Given the description of an element on the screen output the (x, y) to click on. 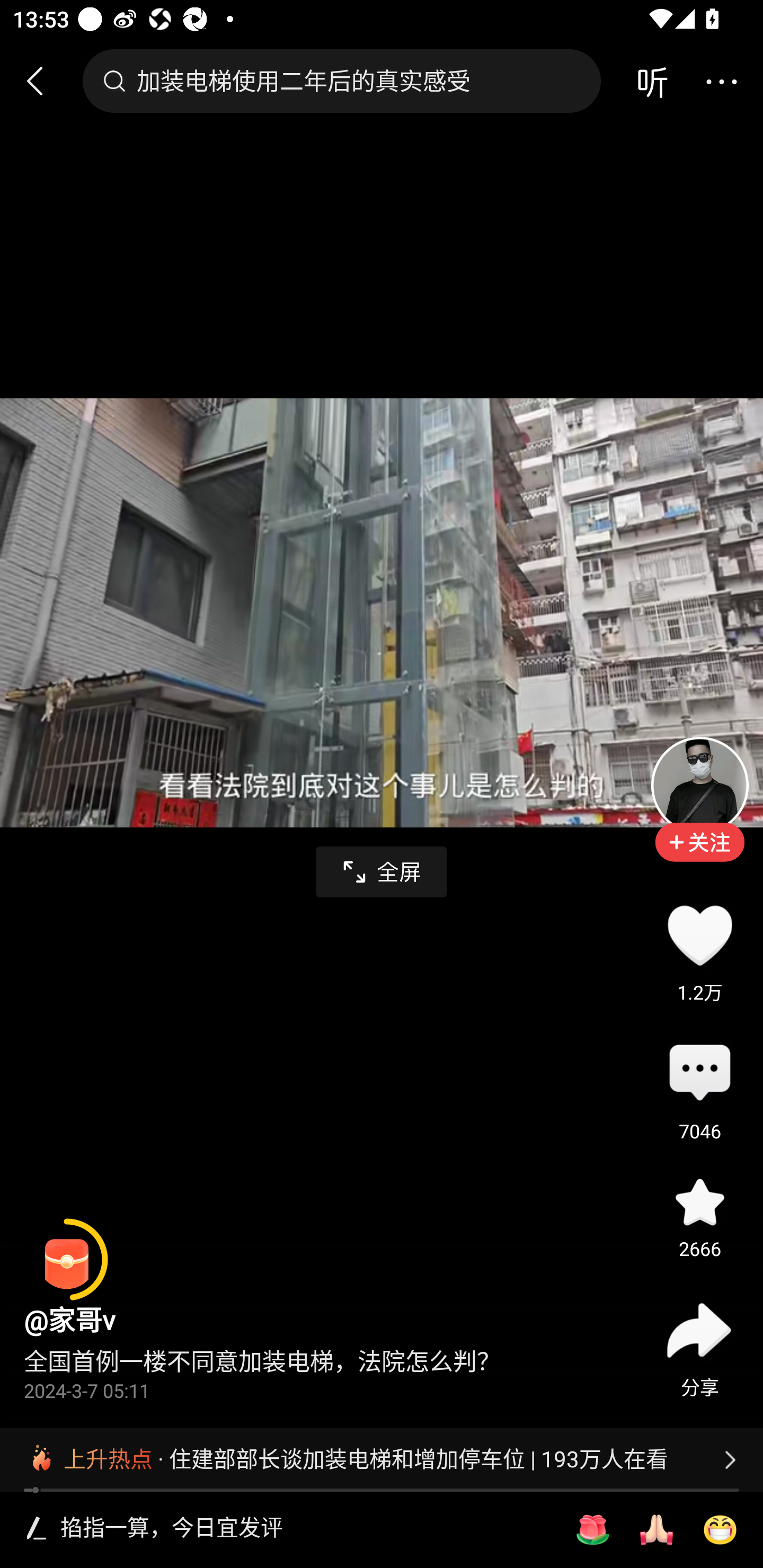
加装电梯使用二年后的真实感受 搜索框，加装电梯使用二年后的真实感受 (341, 80)
返回 (43, 80)
音频 (651, 80)
更多操作 (720, 80)
头像 (699, 785)
全屏播放 (381, 871)
点赞12026 1.2万 (699, 935)
评论7046 评论 7046 (699, 1074)
收藏 2666 (699, 1201)
阅读赚金币 (66, 1259)
分享 (699, 1330)
@家哥v (69, 1319)
上升热点  · 住建部部长谈加装电梯和增加停车位  | 193万人在看 (381, 1459)
掐指一算，今日宜发评 (305, 1529)
[玫瑰] (592, 1530)
[祈祷] (656, 1530)
[呲牙] (719, 1530)
